Given the description of an element on the screen output the (x, y) to click on. 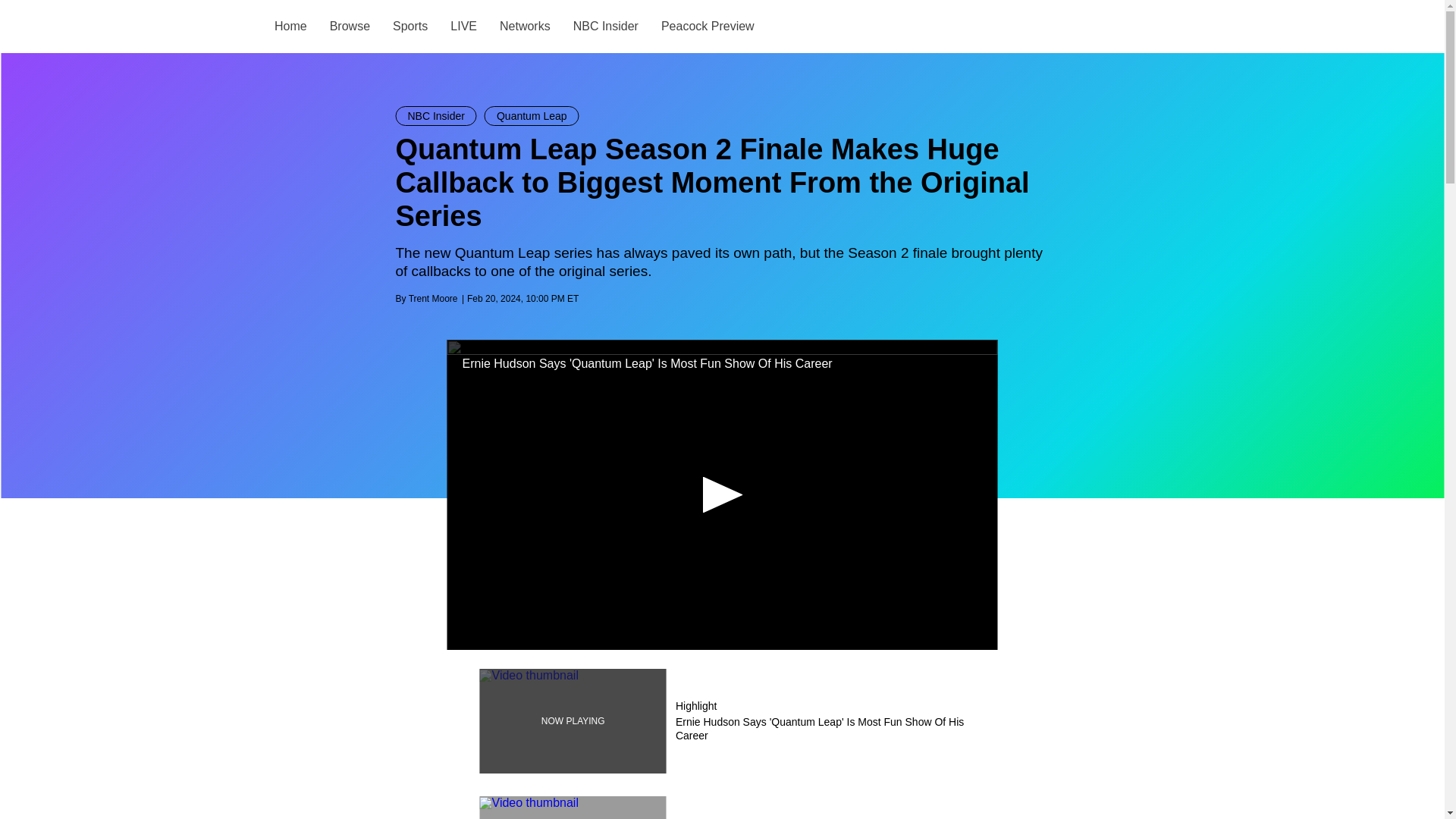
Browse (349, 26)
Peacock Preview (707, 26)
Home (291, 26)
LIVE (463, 26)
Trent Moore (433, 298)
Quantum Leap (531, 116)
Networks (524, 26)
